Given the description of an element on the screen output the (x, y) to click on. 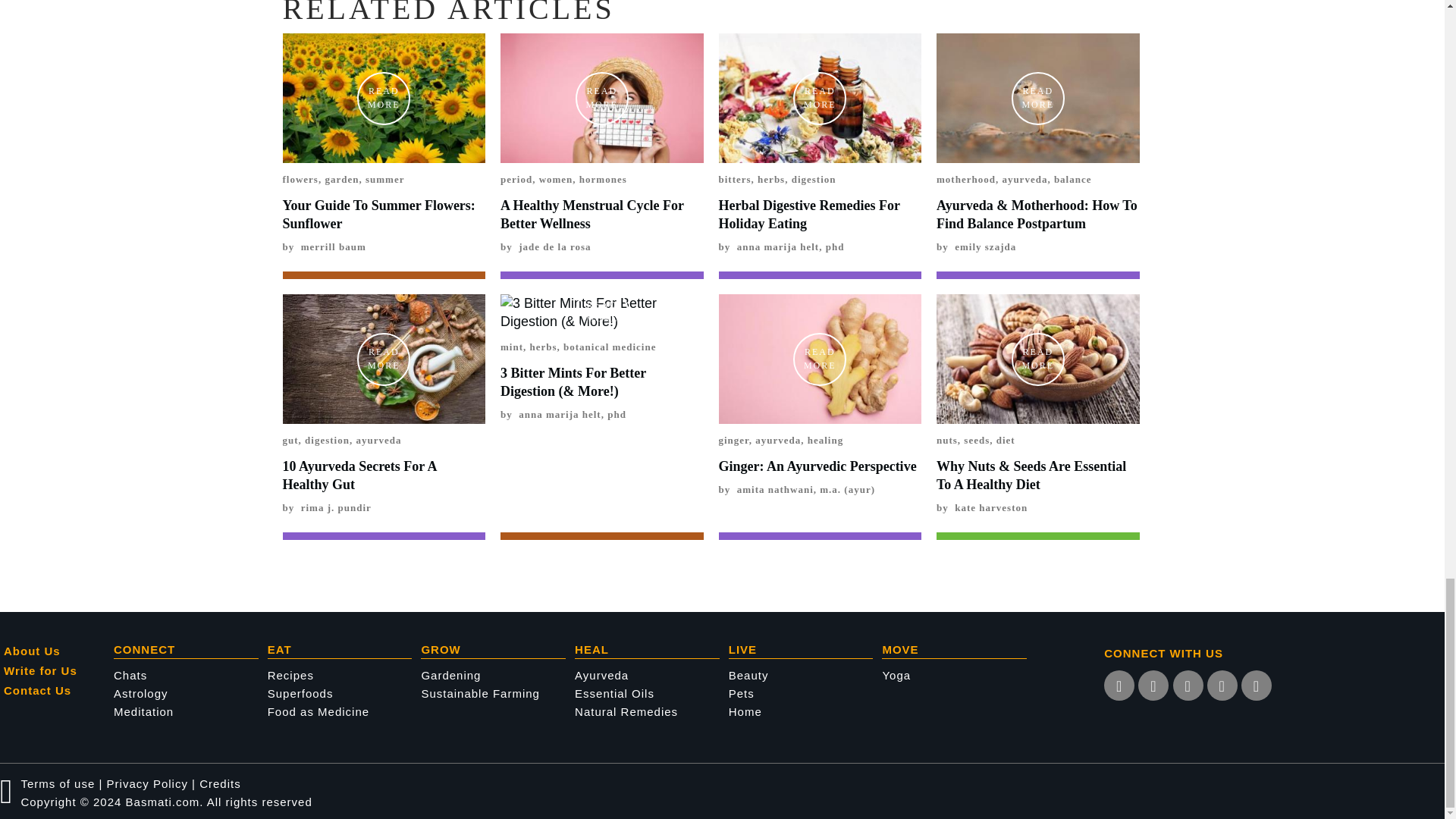
Credits (220, 783)
Terms of use (57, 783)
Privacy Policy (146, 783)
About Us (58, 651)
Pinterest (1222, 685)
Write for Us (58, 671)
Facebook (1188, 685)
Contact Us (58, 691)
Twitter (1118, 685)
Instagram (1153, 685)
